Given the description of an element on the screen output the (x, y) to click on. 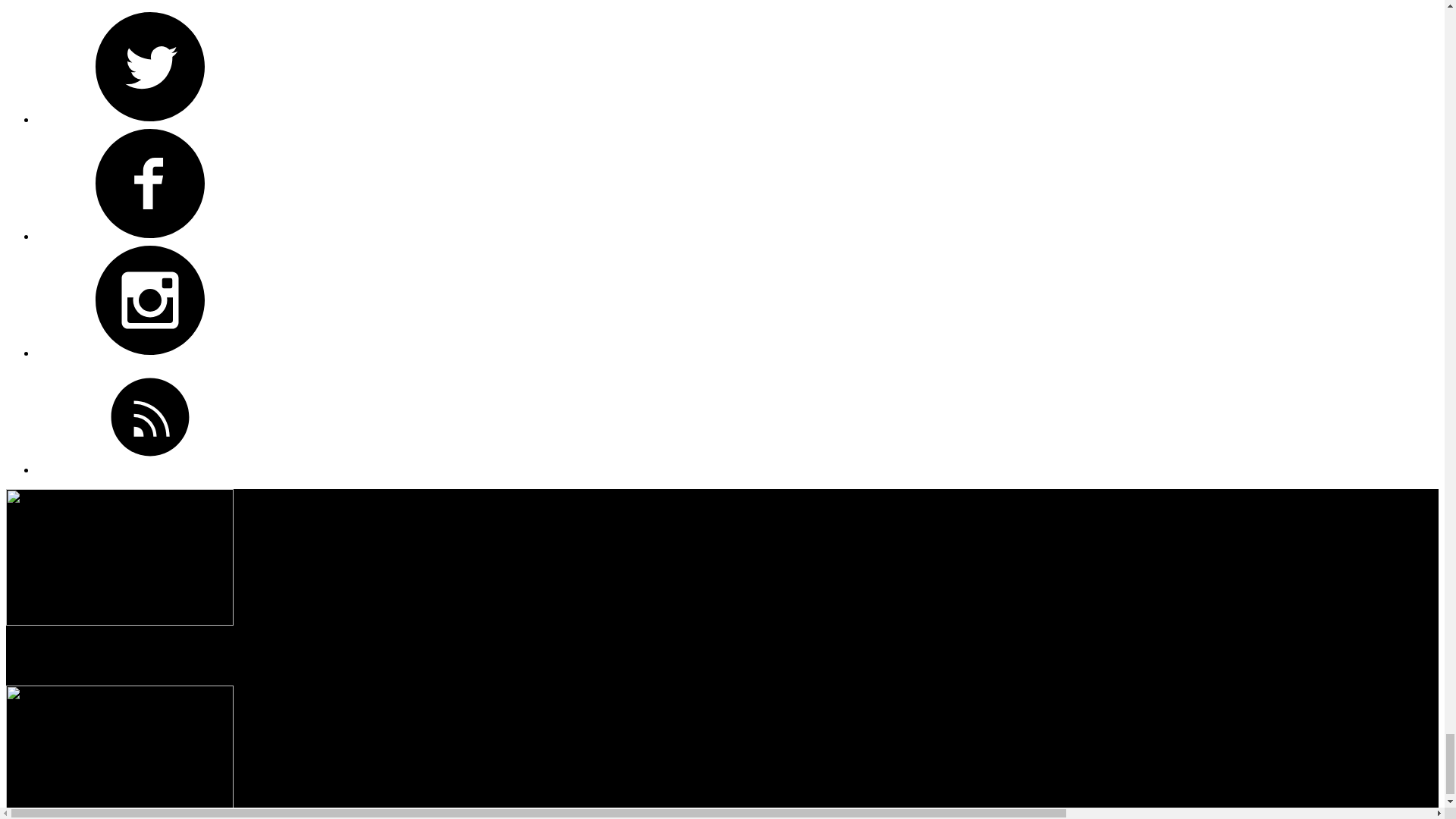
Link to Facebook (149, 183)
Link to Twitter (149, 66)
Link to RSS (149, 417)
Link to Instagram (149, 300)
